Given the description of an element on the screen output the (x, y) to click on. 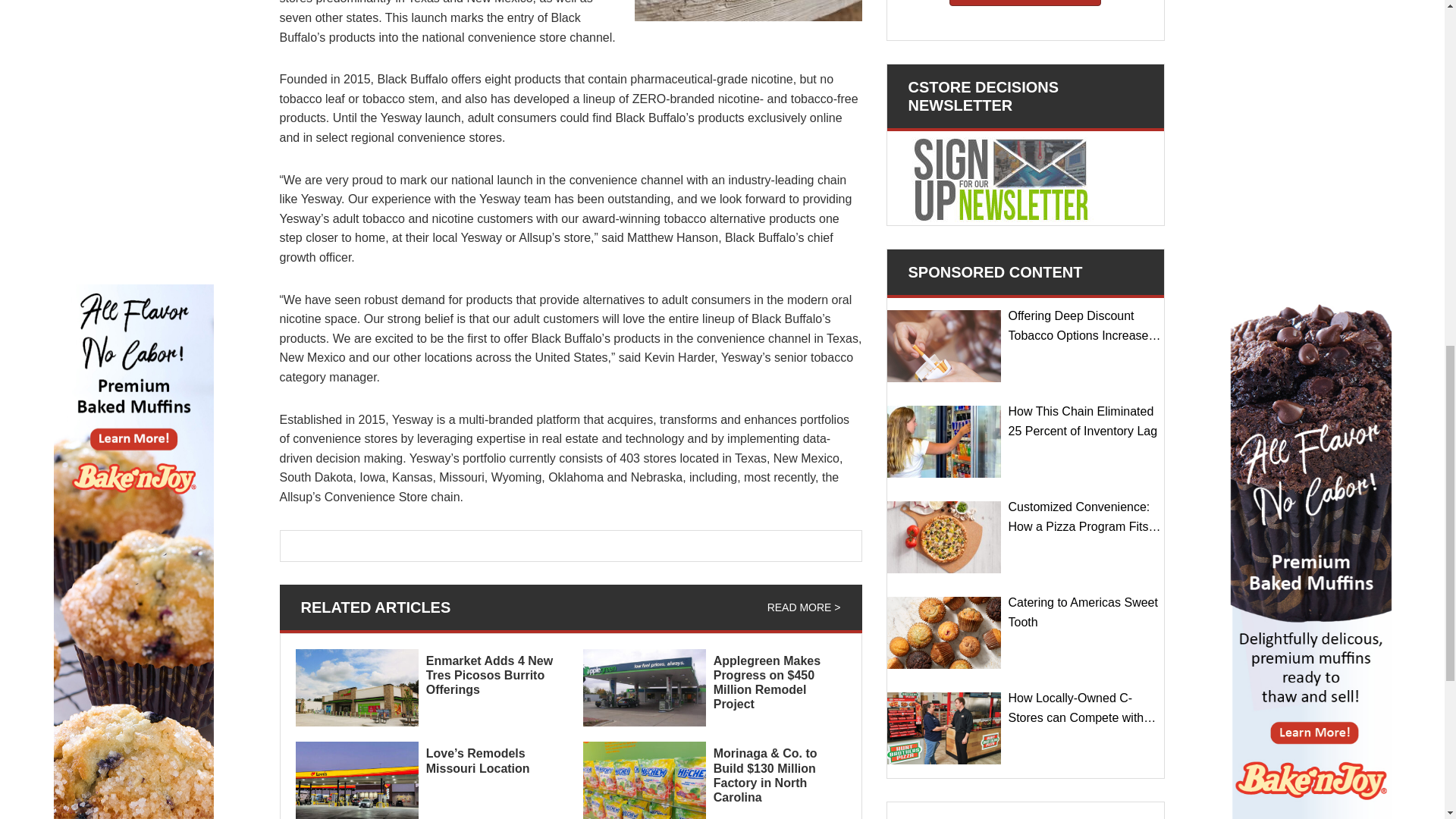
How This Chain Eliminated 25 Percent of Inventory Lag (943, 441)
Catering to Americas Sweet Tooth (943, 633)
Offering Deep Discount Tobacco Options Increases Revenue (943, 346)
How Locally-Owned C-Stores can Compete with National Chains (943, 728)
